Given the description of an element on the screen output the (x, y) to click on. 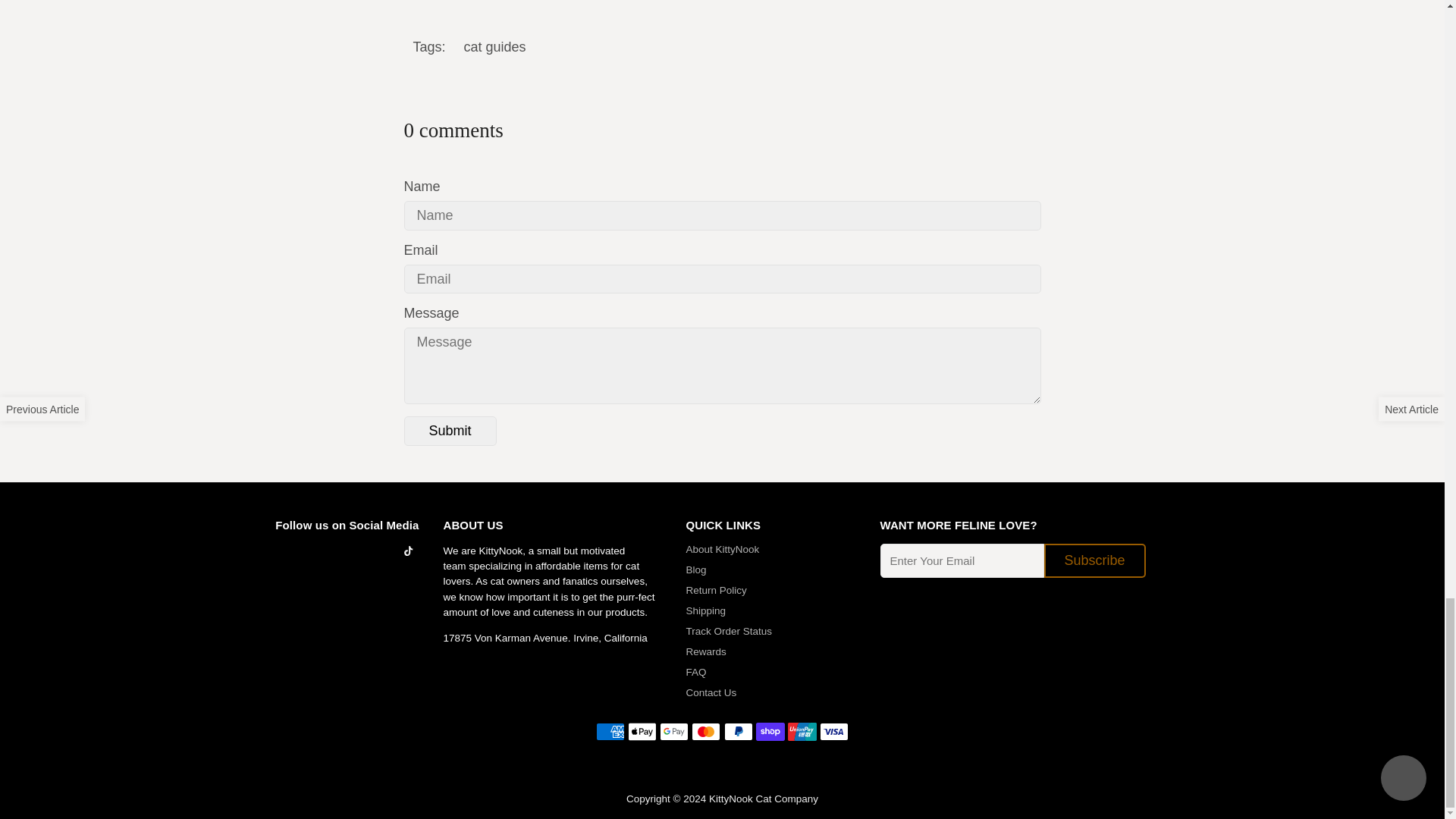
American Express (609, 731)
Submit (449, 430)
Shop Pay (769, 731)
Apple Pay (641, 731)
Visa (833, 731)
Union Pay (801, 731)
Google Pay (673, 731)
Mastercard (705, 731)
PayPal (737, 731)
